Given the description of an element on the screen output the (x, y) to click on. 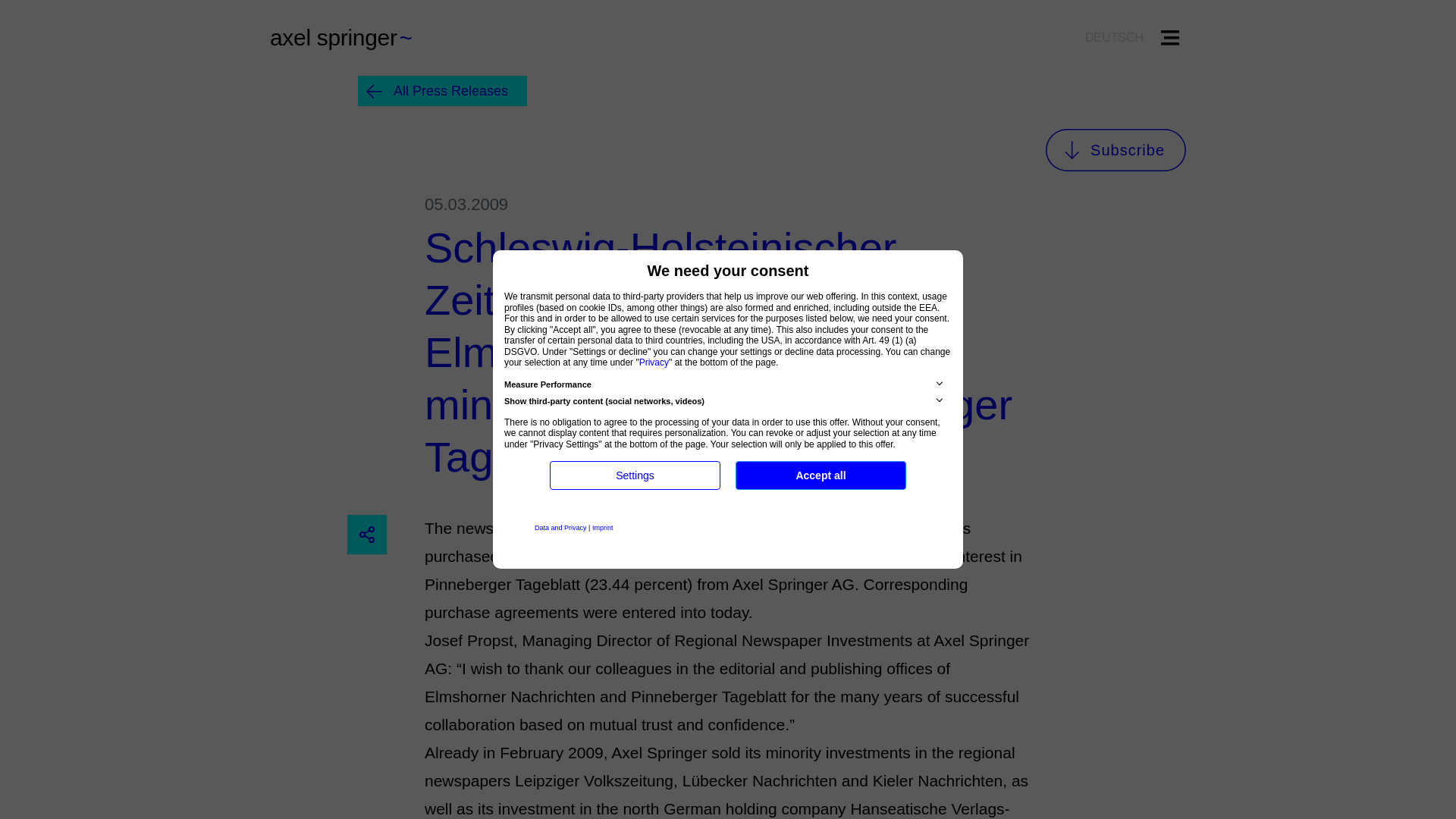
All Press Releases (442, 91)
Home (351, 38)
DEUTSCH (1114, 37)
Subscribe (1115, 149)
